Given the description of an element on the screen output the (x, y) to click on. 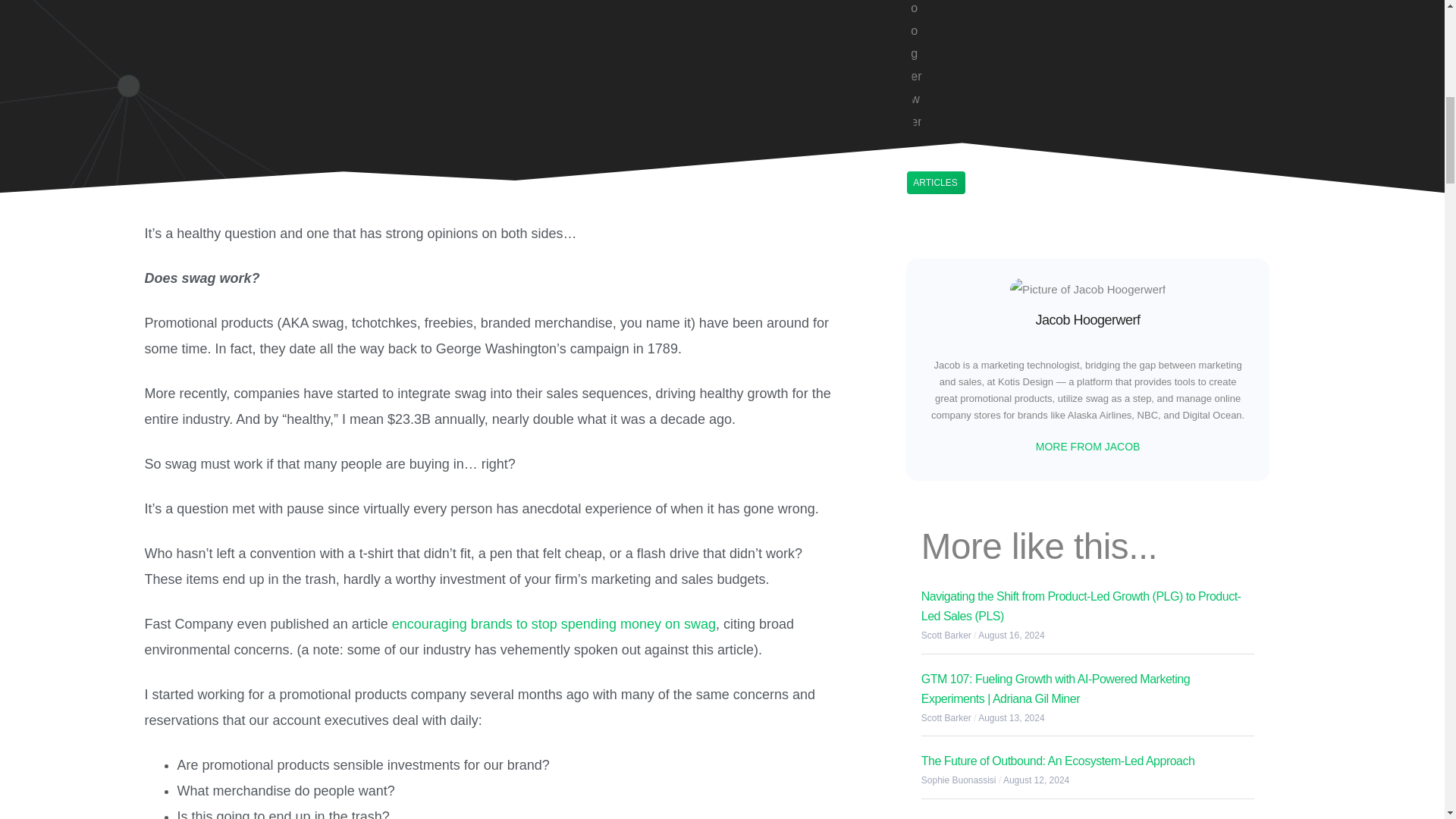
MORE FROM JACOB (1087, 446)
Jacob Hoogerwerf (1087, 320)
encouraging brands to stop spending money on swag (553, 623)
ARTICLES (934, 182)
Kotis Design (1024, 381)
The Future of Outbound: An Ecosystem-Led Approach (1058, 760)
